Given the description of an element on the screen output the (x, y) to click on. 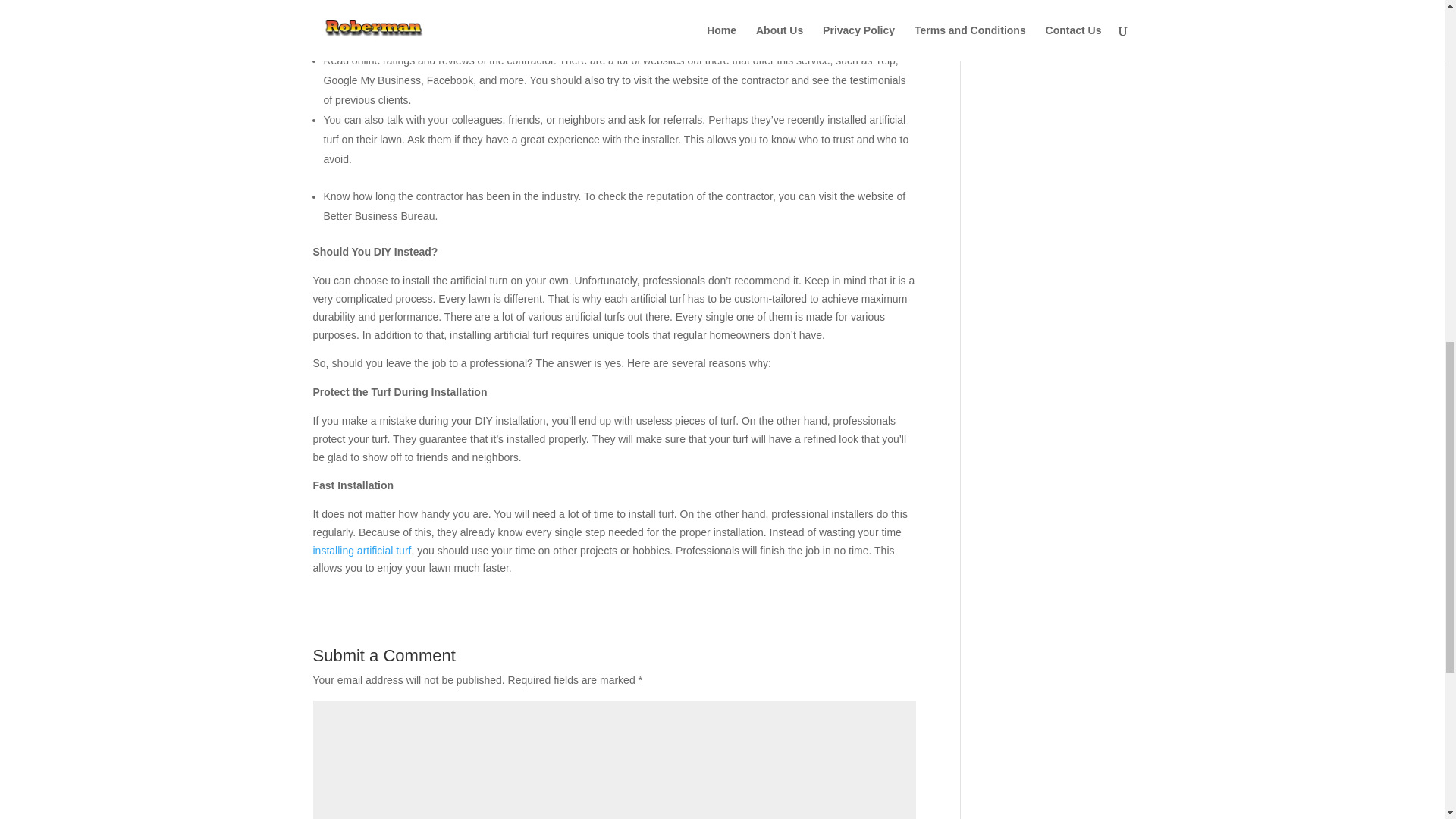
installing artificial turf (361, 550)
